Given the description of an element on the screen output the (x, y) to click on. 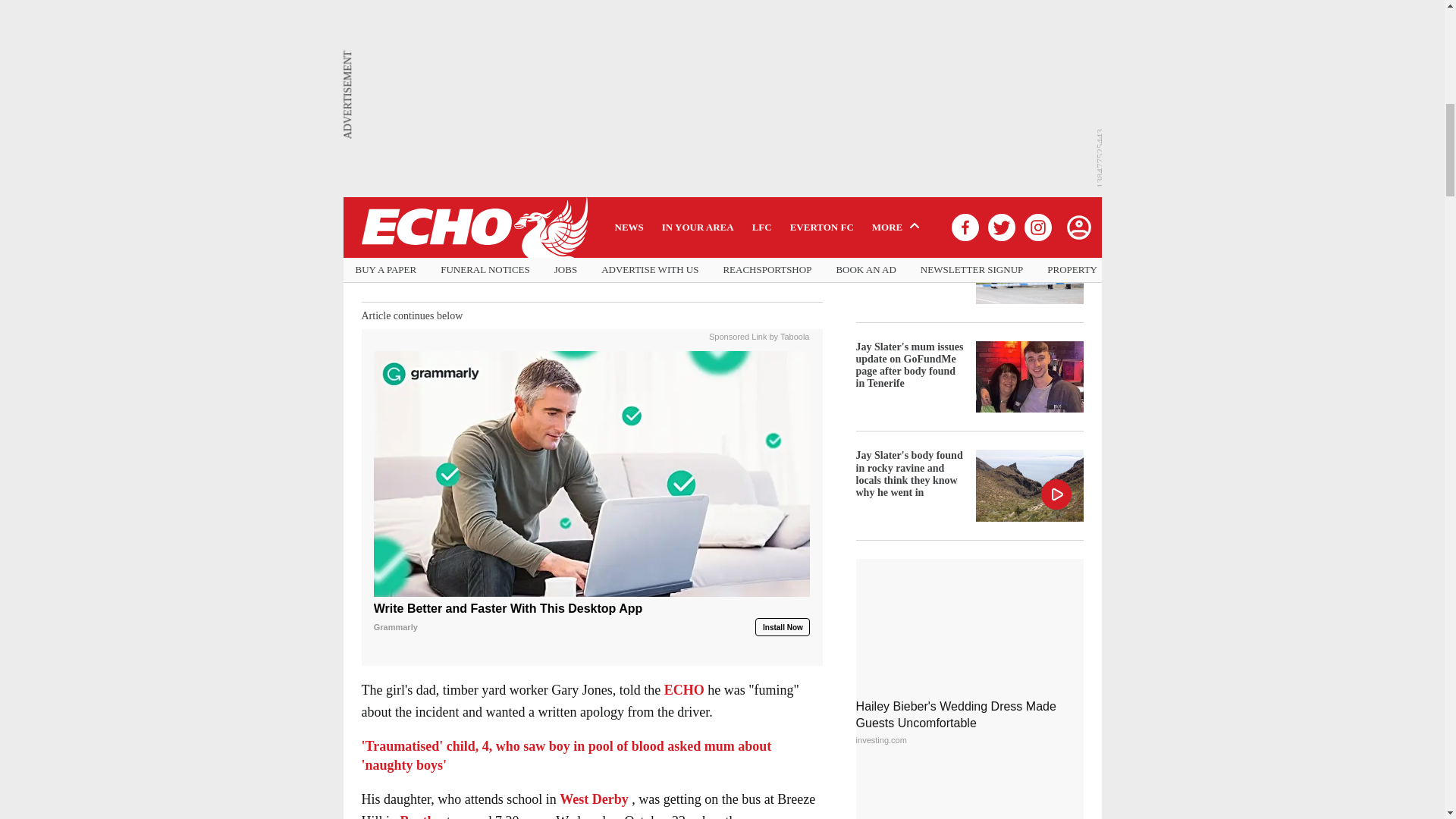
Write Better and Faster With This Desktop App (592, 618)
Sponsored Link (738, 335)
Install Now (782, 627)
Write Better and Faster With This Desktop App (592, 474)
by Taboola (788, 335)
